Given the description of an element on the screen output the (x, y) to click on. 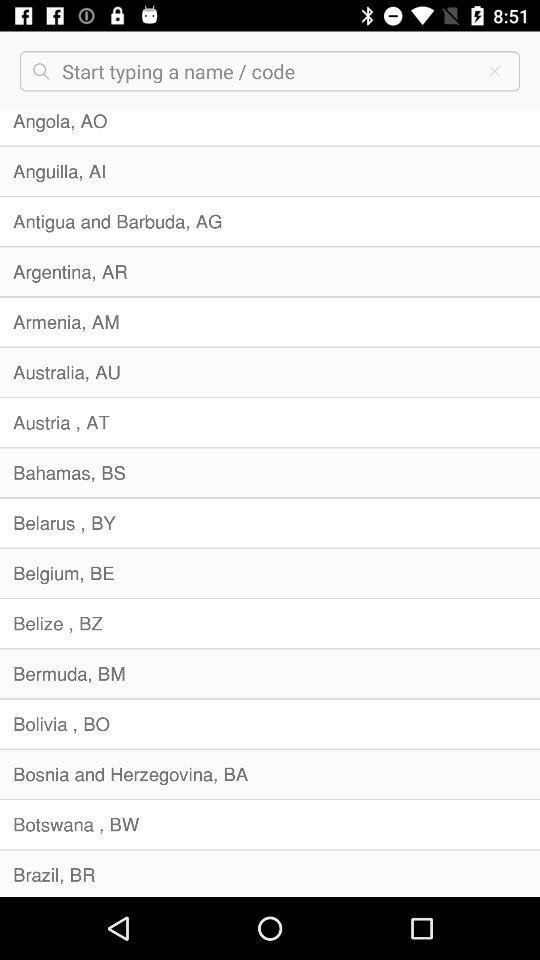
search area code (265, 71)
